Given the description of an element on the screen output the (x, y) to click on. 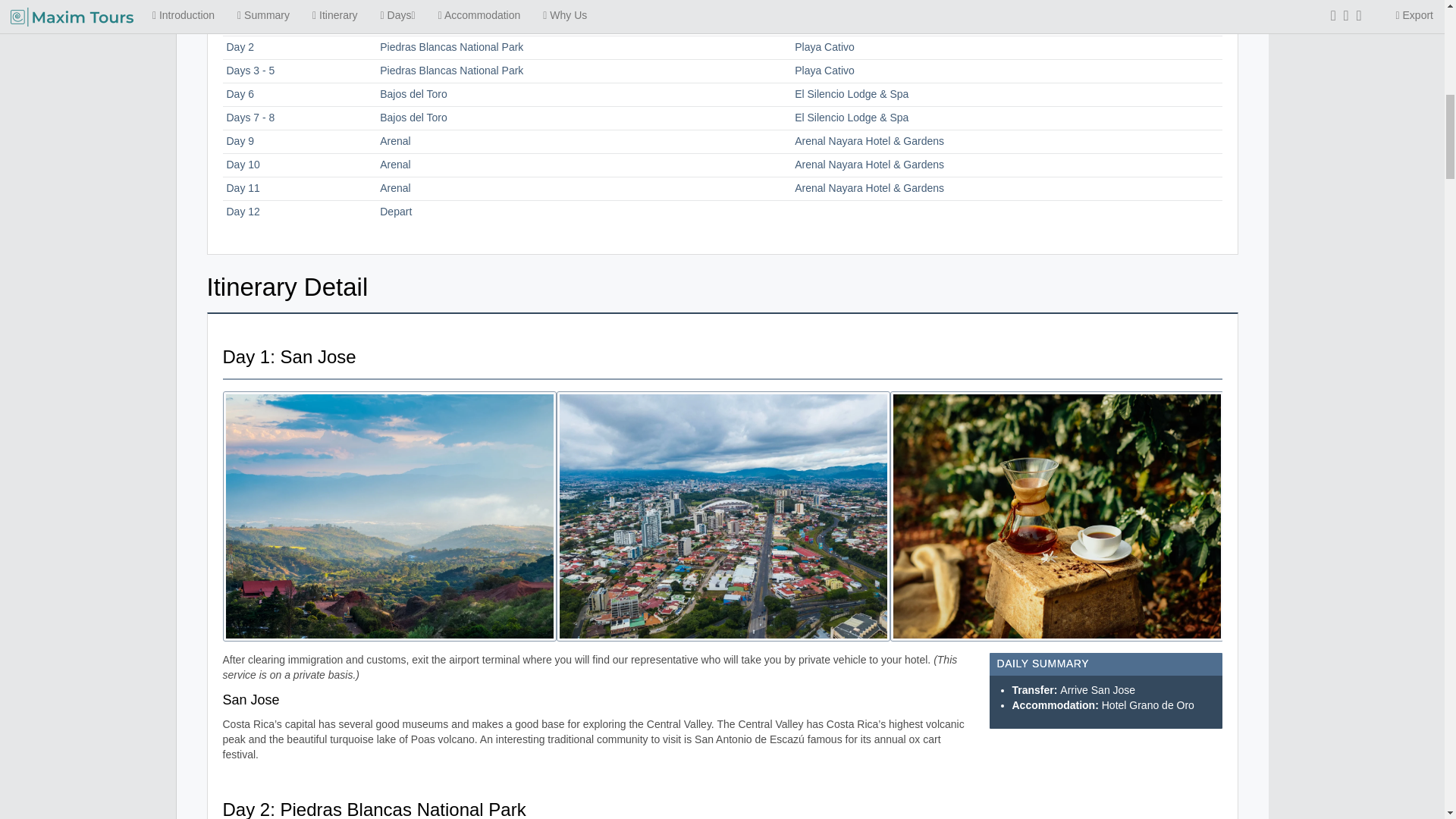
Days 7 - 8 (250, 117)
Day 9 (239, 141)
Day 2 (239, 46)
Piedras Blancas National Park (451, 46)
Playa Cativo (824, 46)
Hotel Grano de Oro (840, 23)
San Jose (401, 23)
Day 6 (239, 93)
Day 1 (239, 23)
Days 3 - 5 (250, 70)
Bajos del Toro (413, 117)
Piedras Blancas National Park (451, 70)
Playa Cativo (824, 70)
Bajos del Toro (413, 93)
